Given the description of an element on the screen output the (x, y) to click on. 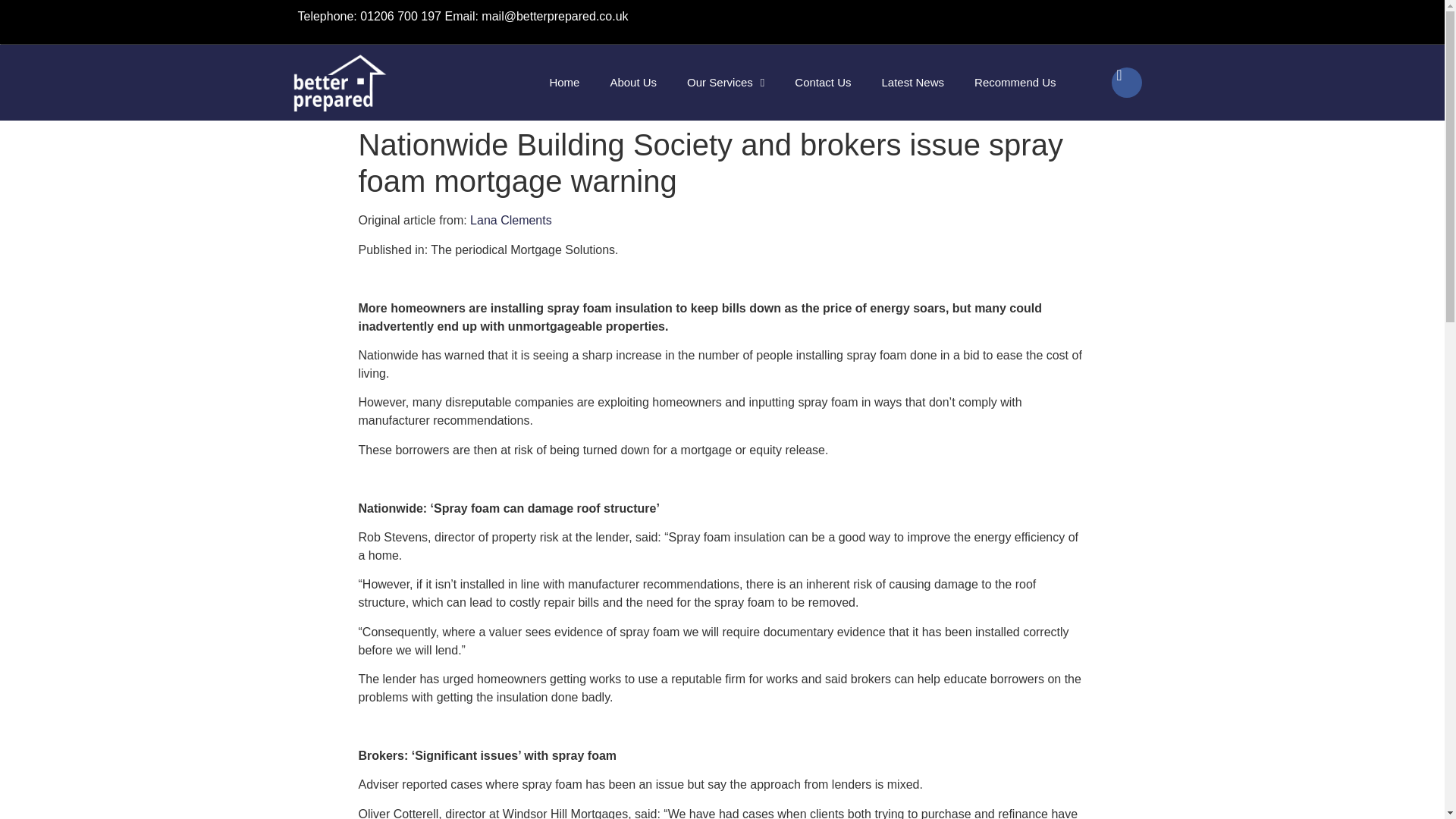
Home (564, 82)
Latest News (912, 82)
Our Services (724, 82)
Recommend Us (1015, 82)
Contact Us (822, 82)
About Us (632, 82)
Lana Clements (510, 219)
